Given the description of an element on the screen output the (x, y) to click on. 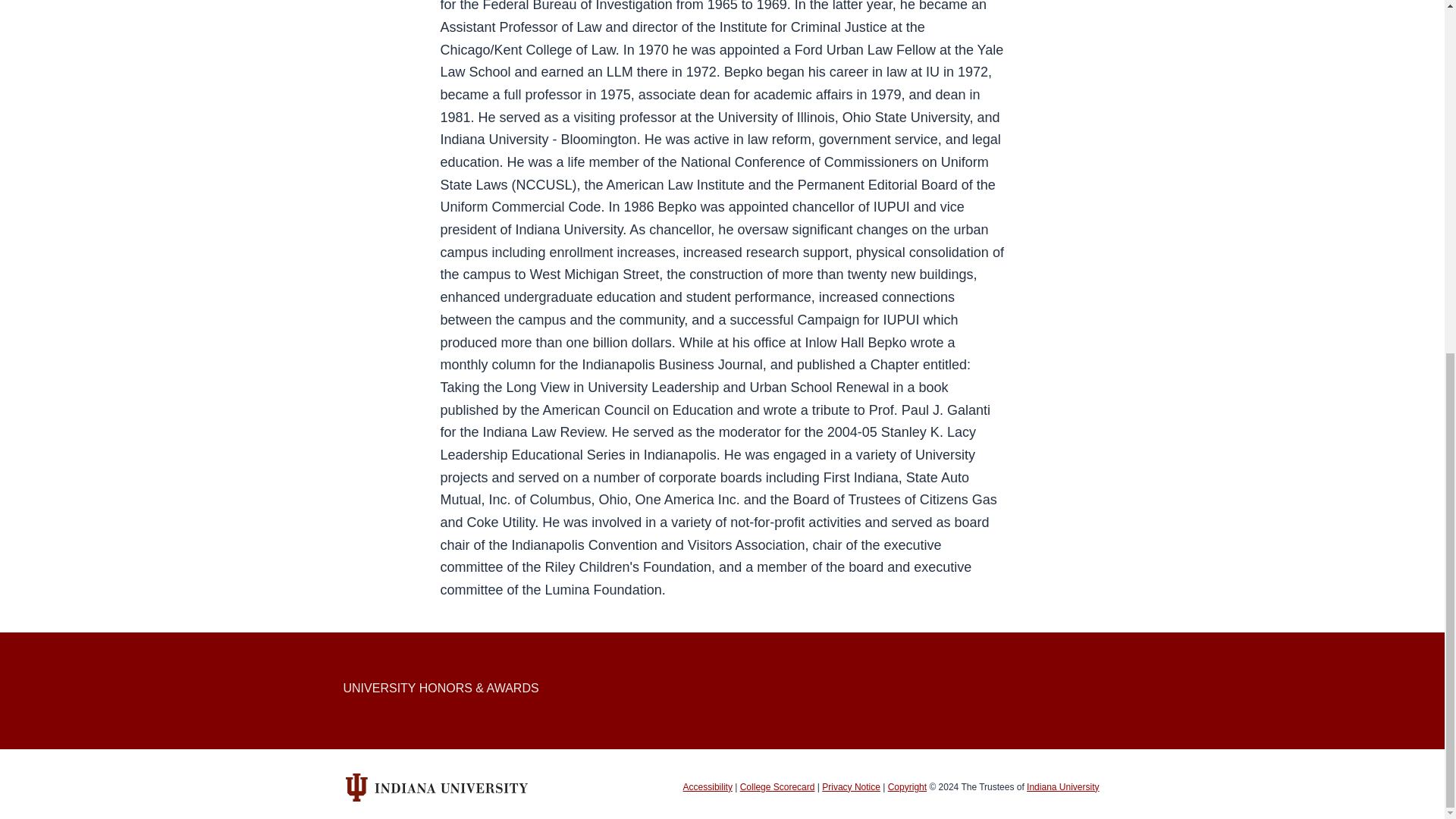
Copyright (907, 787)
Indiana University (1062, 787)
Accessibility (707, 787)
College Scorecard (777, 787)
Privacy Notice (851, 787)
